Given the description of an element on the screen output the (x, y) to click on. 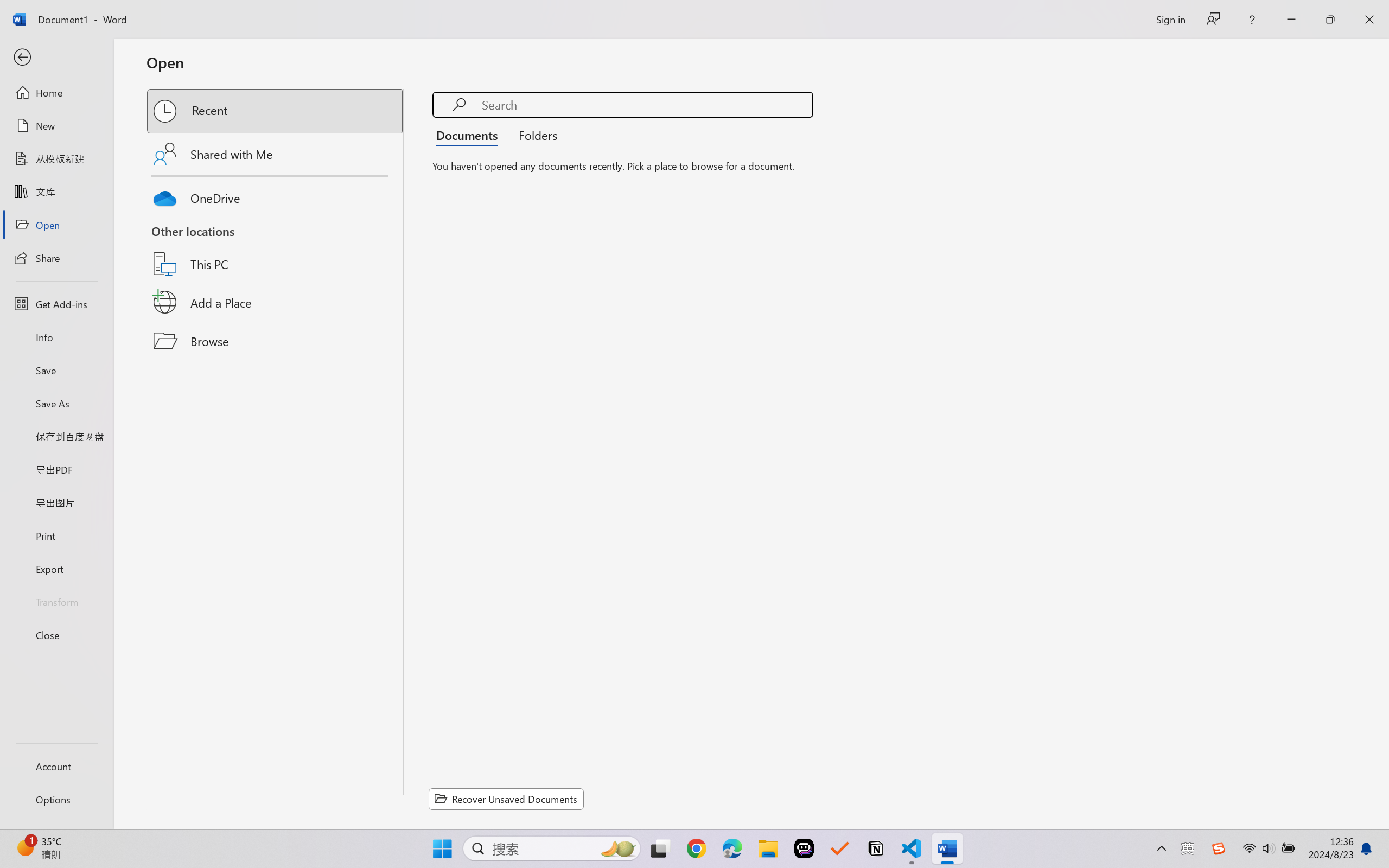
Recover Unsaved Documents (506, 798)
New (56, 125)
Transform (56, 601)
Print (56, 535)
Info (56, 337)
Get Add-ins (56, 303)
Recent (275, 110)
Add a Place (275, 302)
